Given the description of an element on the screen output the (x, y) to click on. 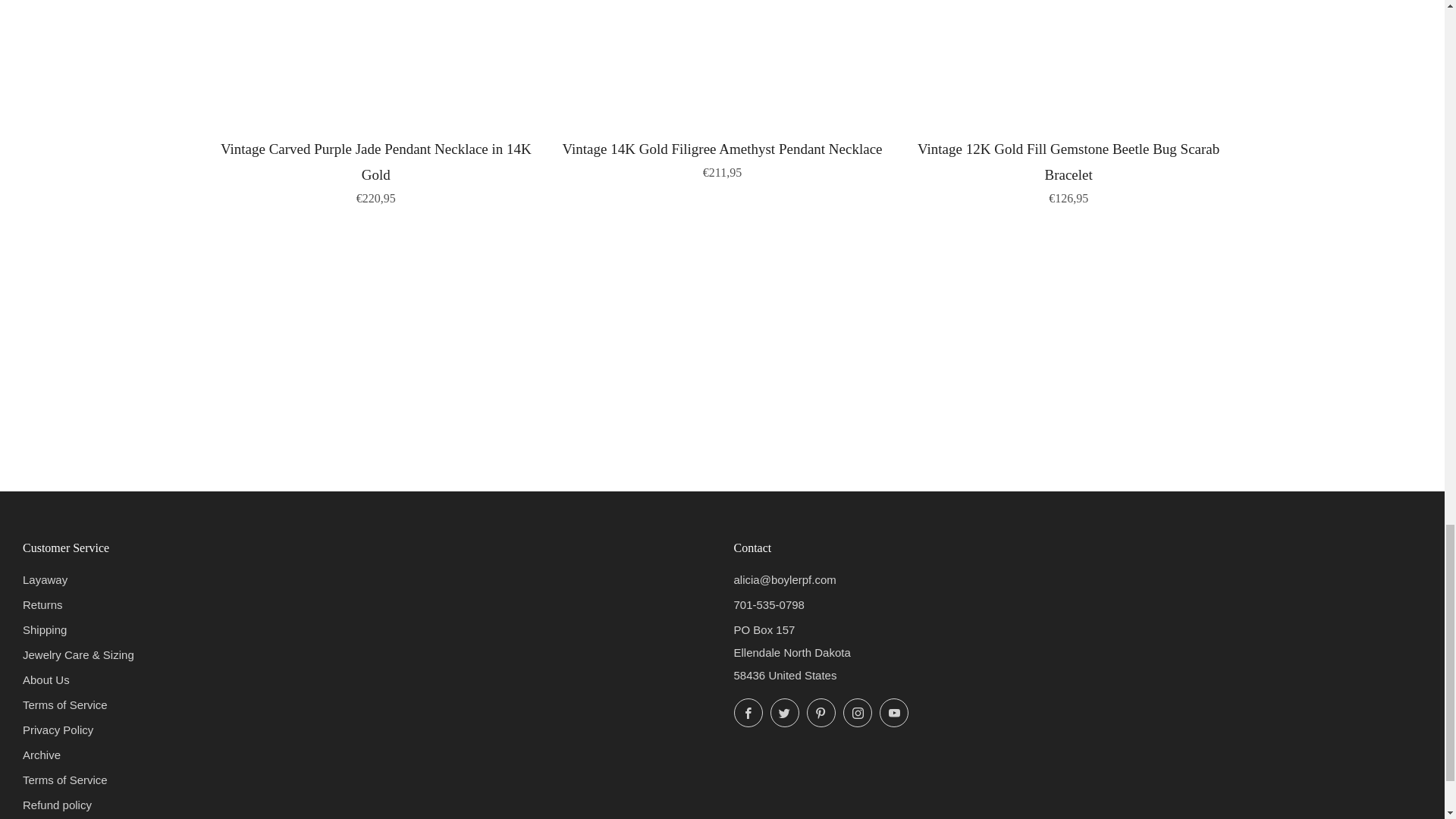
Vintage Carved Purple Jade Pendant Necklace in 14K Gold (376, 170)
Vintage 12K Gold Fill Gemstone Beetle Bug Scarab Bracelet (1068, 170)
Vintage 14K Gold Filigree Amethyst Pendant Necklace (721, 157)
